Given the description of an element on the screen output the (x, y) to click on. 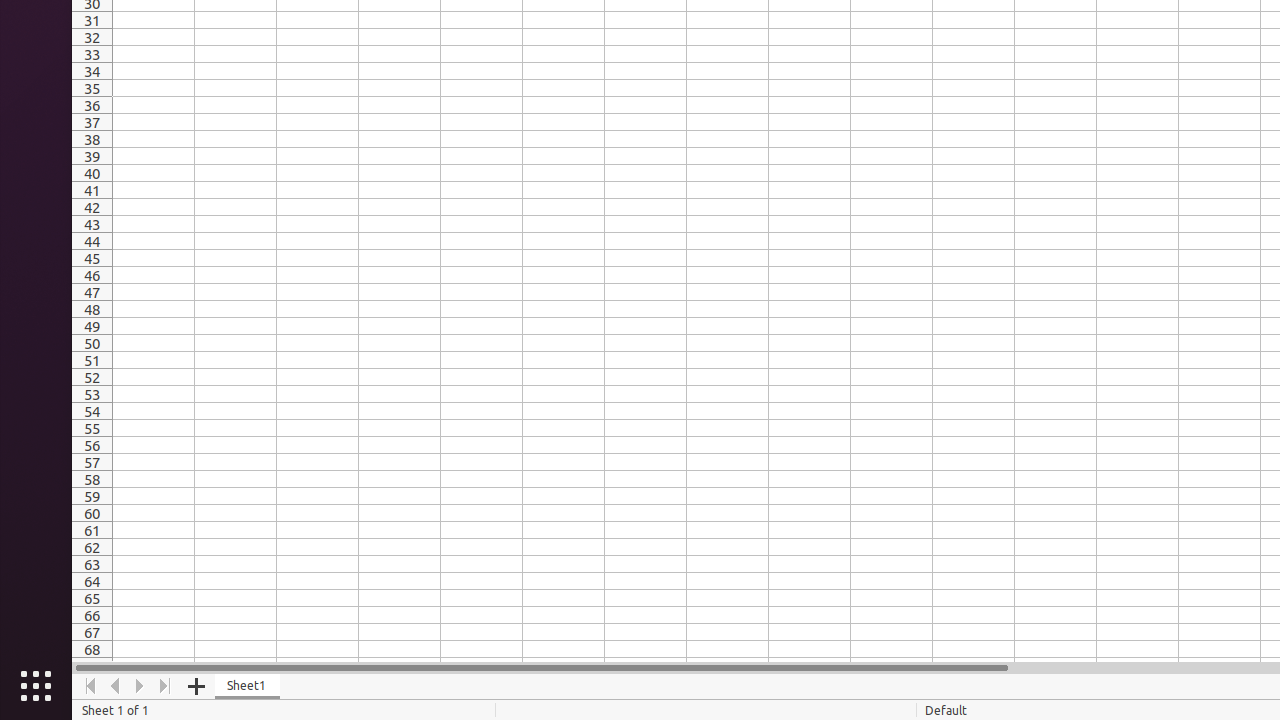
Move Left Element type: push-button (115, 686)
Move To Home Element type: push-button (90, 686)
Show Applications Element type: toggle-button (36, 686)
Sheet1 Element type: page-tab (247, 686)
Move To End Element type: push-button (165, 686)
